Given the description of an element on the screen output the (x, y) to click on. 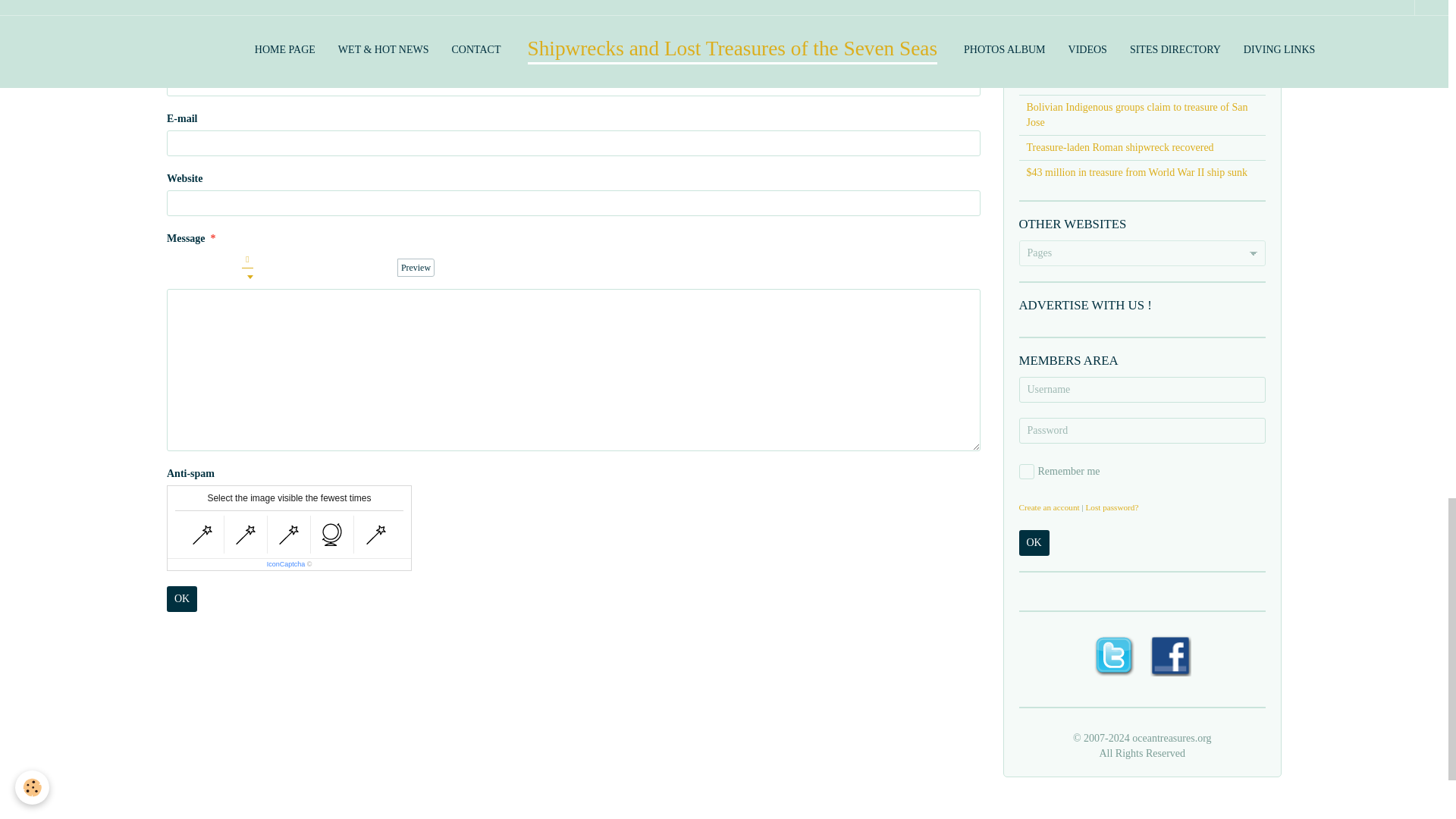
Underline (210, 267)
Quote (266, 267)
Video (353, 267)
Bold (175, 267)
Italics (193, 267)
Text size (228, 267)
Code (371, 267)
Text center (284, 267)
Link (301, 267)
Image (336, 267)
Hidden text (319, 267)
search (1100, 1)
Smileys (388, 267)
